Given the description of an element on the screen output the (x, y) to click on. 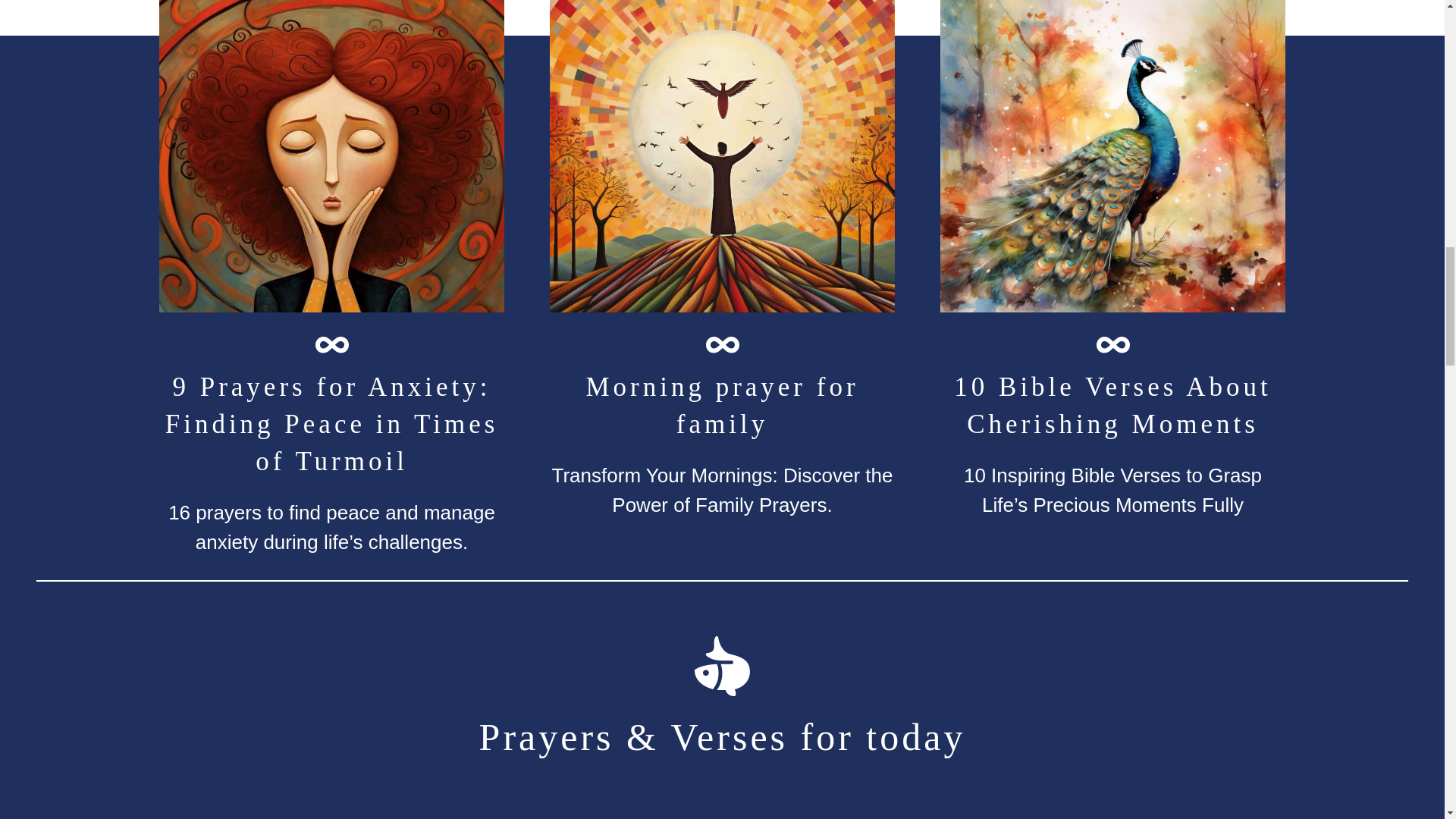
10 Bible Verses About Cherishing Moments (1112, 405)
9 Prayers for Anxiety: Finding Peace in Times of Turmoil (330, 423)
Morning prayer for family (722, 405)
